Given the description of an element on the screen output the (x, y) to click on. 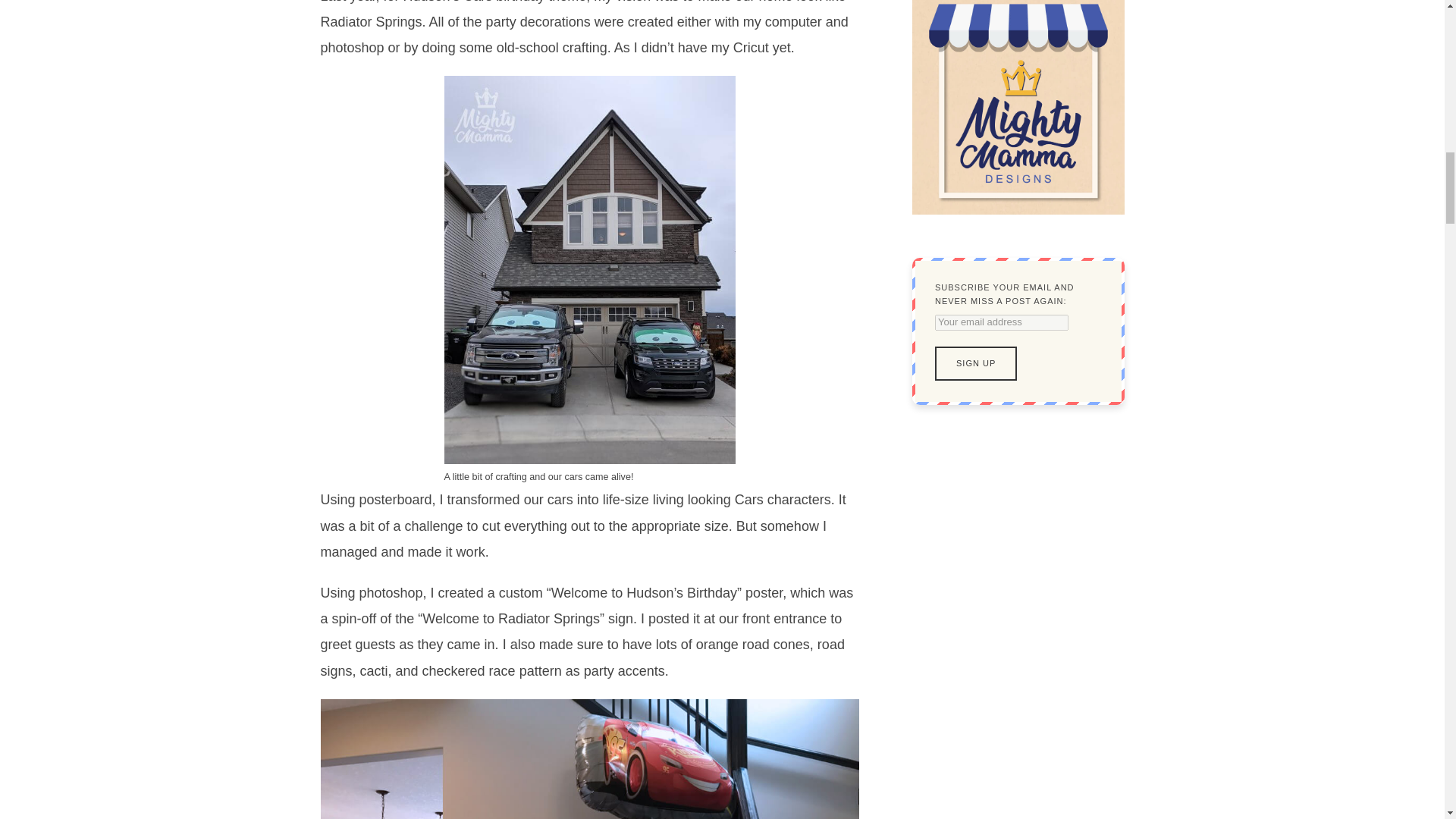
Sign up (975, 363)
